Given the description of an element on the screen output the (x, y) to click on. 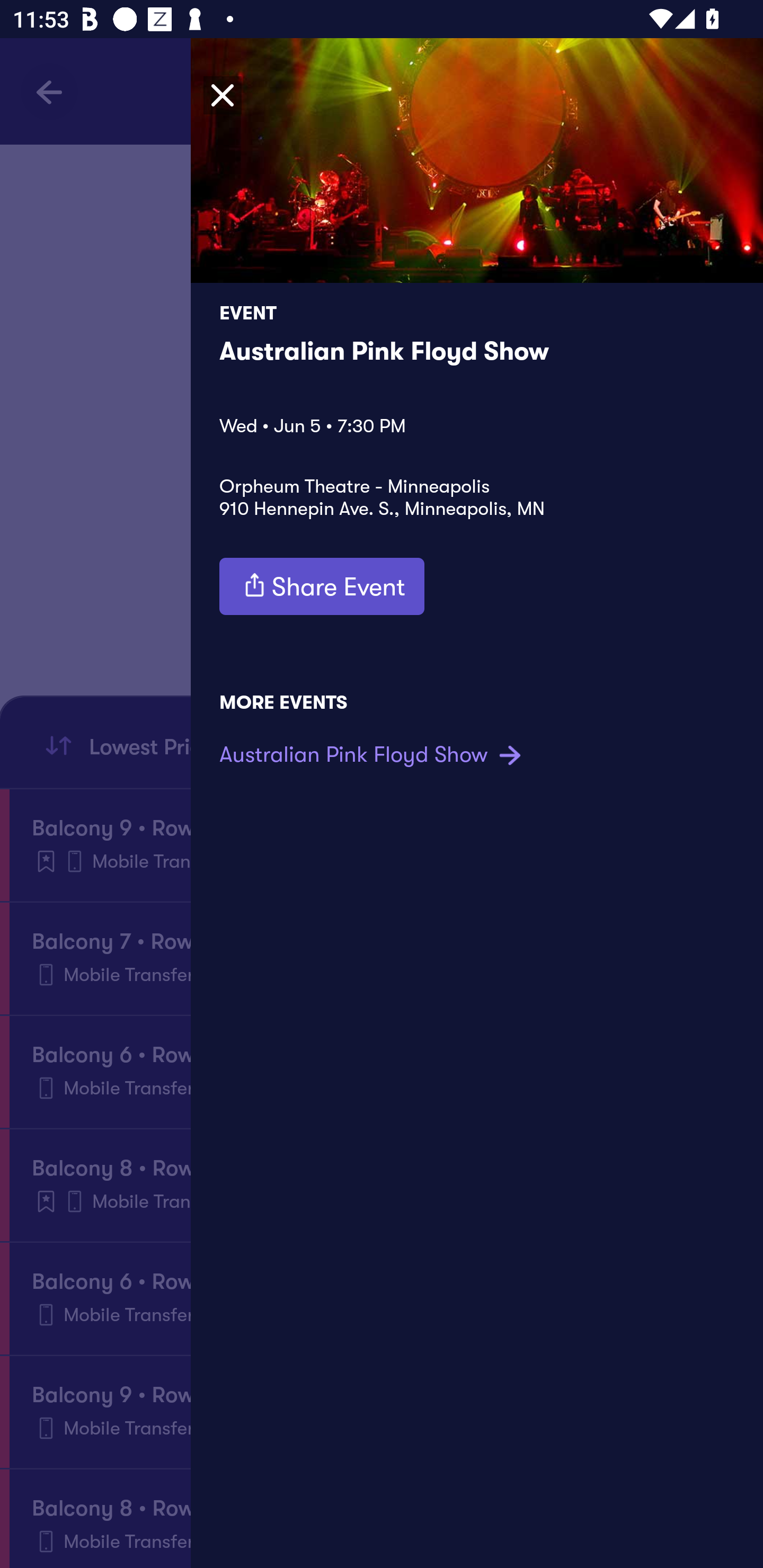
Share Event (321, 586)
Australian Pink Floyd Show (372, 753)
